Given the description of an element on the screen output the (x, y) to click on. 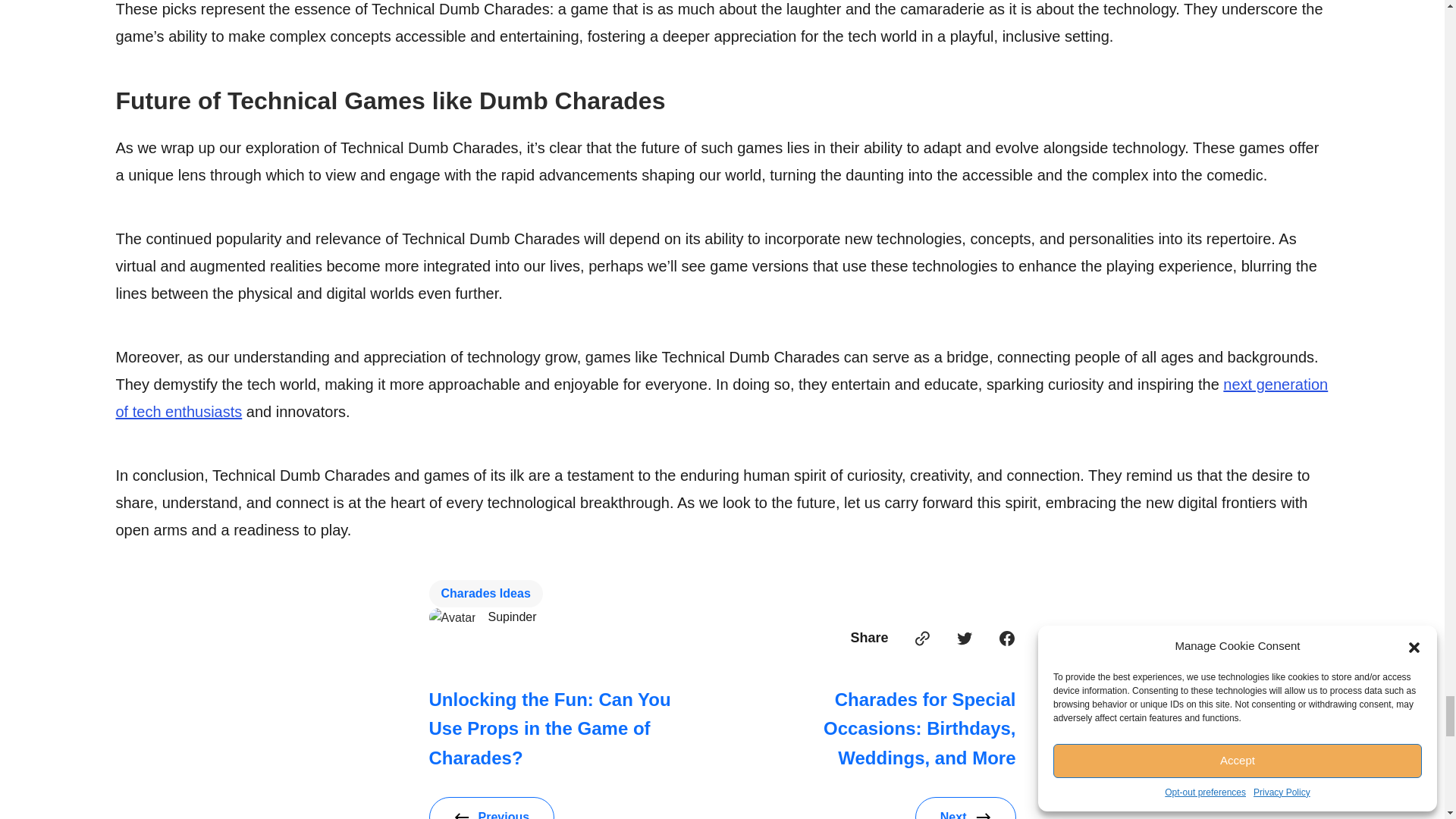
Next (965, 807)
Twitter (964, 638)
Facebook (1006, 638)
Link (921, 638)
next generation of tech enthusiasts (721, 397)
Charades Ideas (486, 593)
Previous (491, 807)
